Given the description of an element on the screen output the (x, y) to click on. 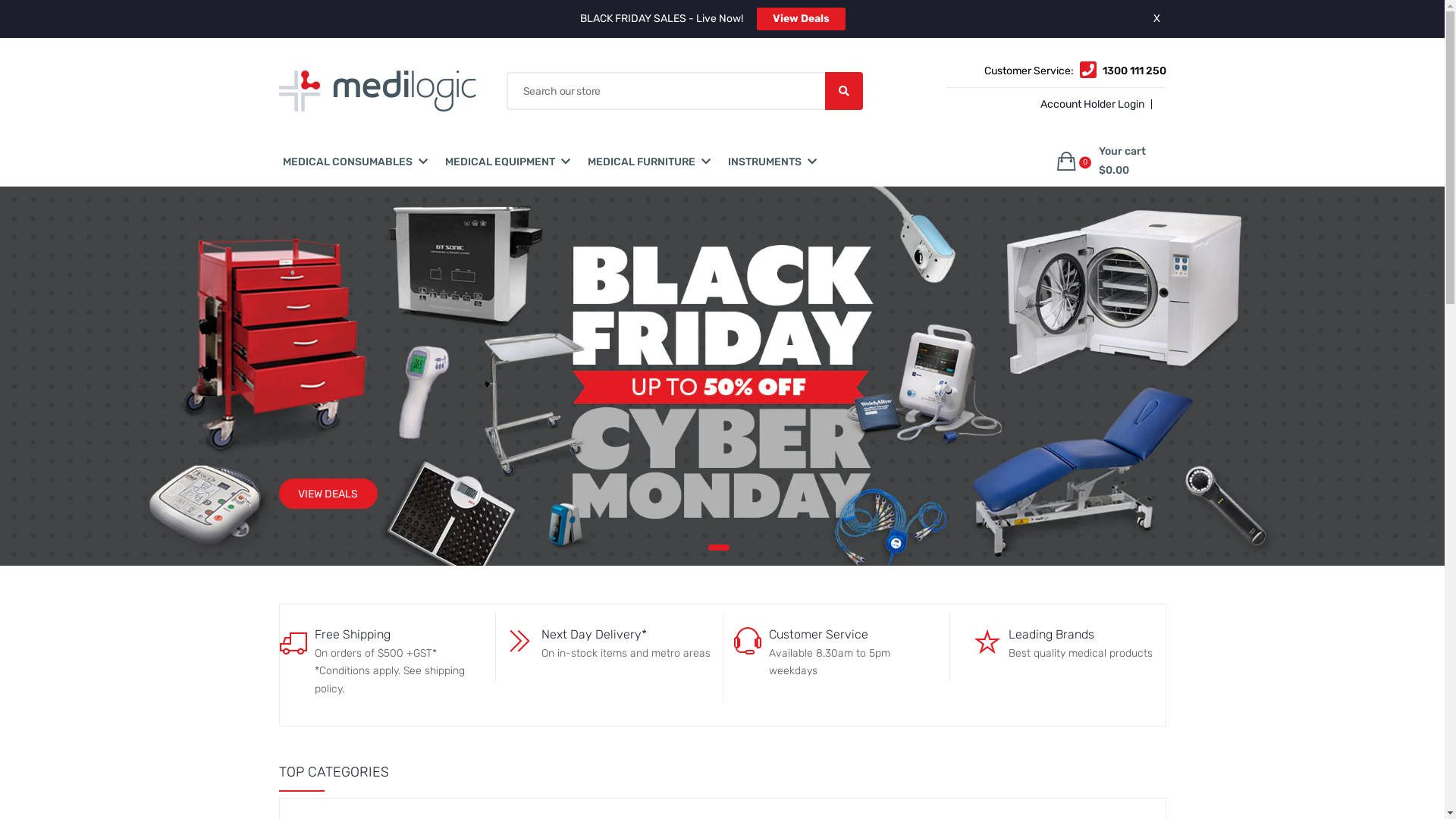
MEDICAL EQUIPMENT Element type: text (499, 162)
MEDICAL FURNITURE Element type: text (640, 162)
1 Element type: text (718, 547)
MEDICAL CONSUMABLES Element type: text (346, 162)
1300 111 250 Element type: text (1134, 70)
VIEW DEALS Element type: text (328, 493)
X Element type: text (1155, 18)
INSTRUMENTS Element type: text (764, 162)
View Deals Element type: text (800, 18)
Account Holder Login Element type: text (1089, 103)
